Given the description of an element on the screen output the (x, y) to click on. 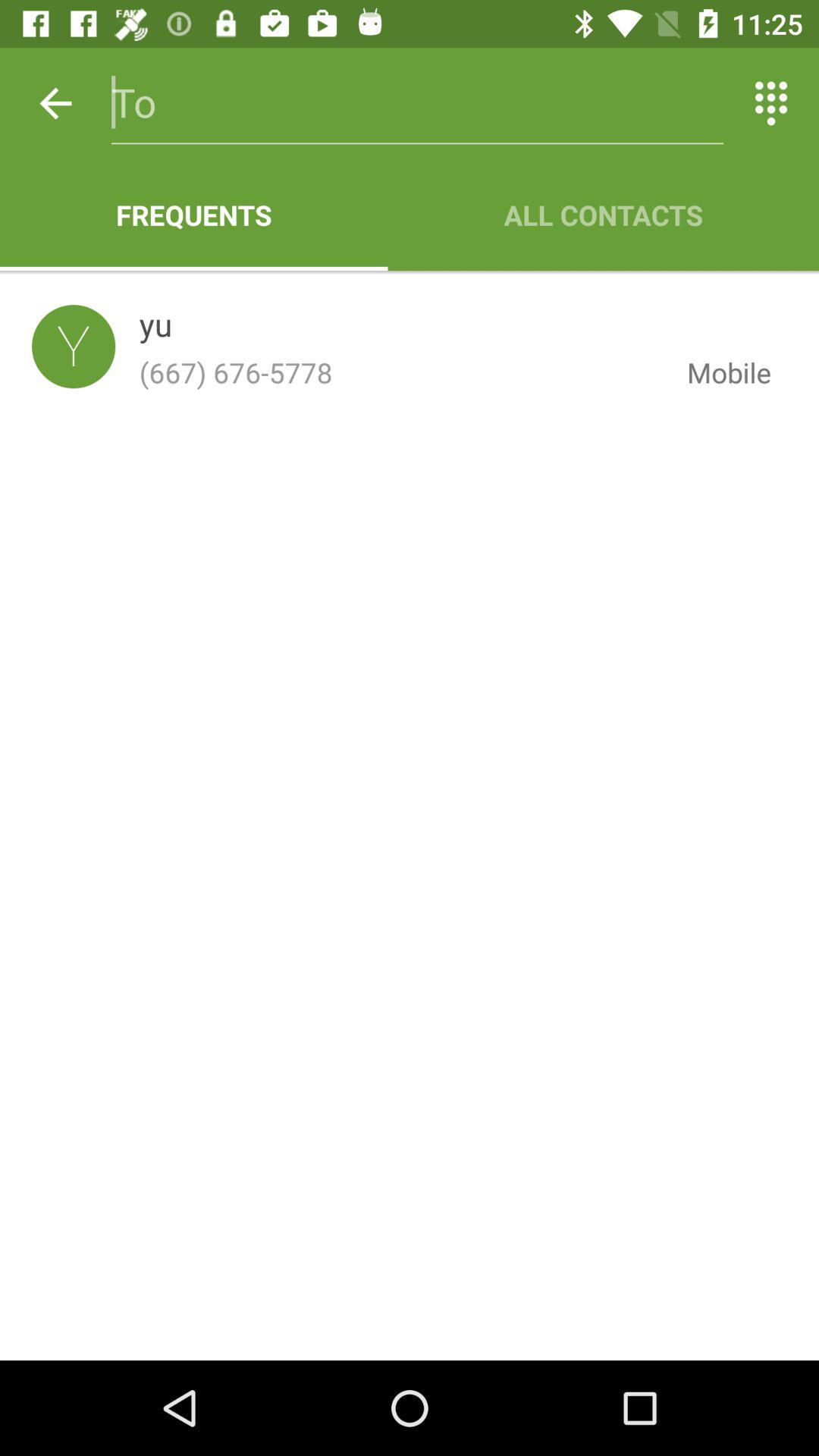
tap the icon next to (667) 676-5778 icon (717, 372)
